Given the description of an element on the screen output the (x, y) to click on. 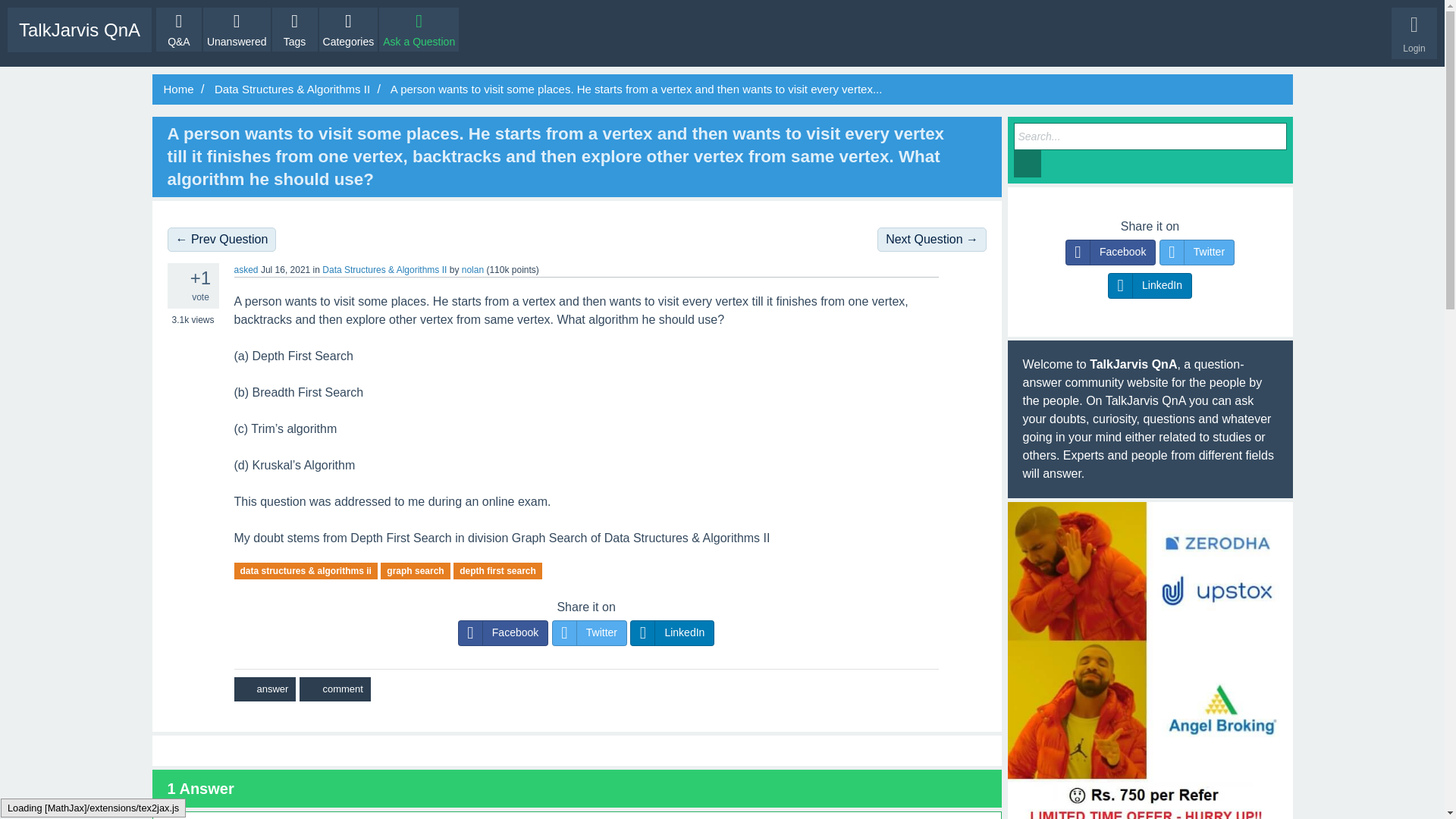
Twitter (589, 632)
Ask a Question (418, 29)
LinkedIn (672, 632)
Click to vote down (176, 295)
answer (263, 689)
comment (334, 689)
graph search (414, 570)
LinkedIn (672, 632)
Tags (294, 29)
Facebook (503, 632)
TalkJarvis QnA (79, 29)
Click to vote up (176, 275)
nolan (472, 269)
